Given the description of an element on the screen output the (x, y) to click on. 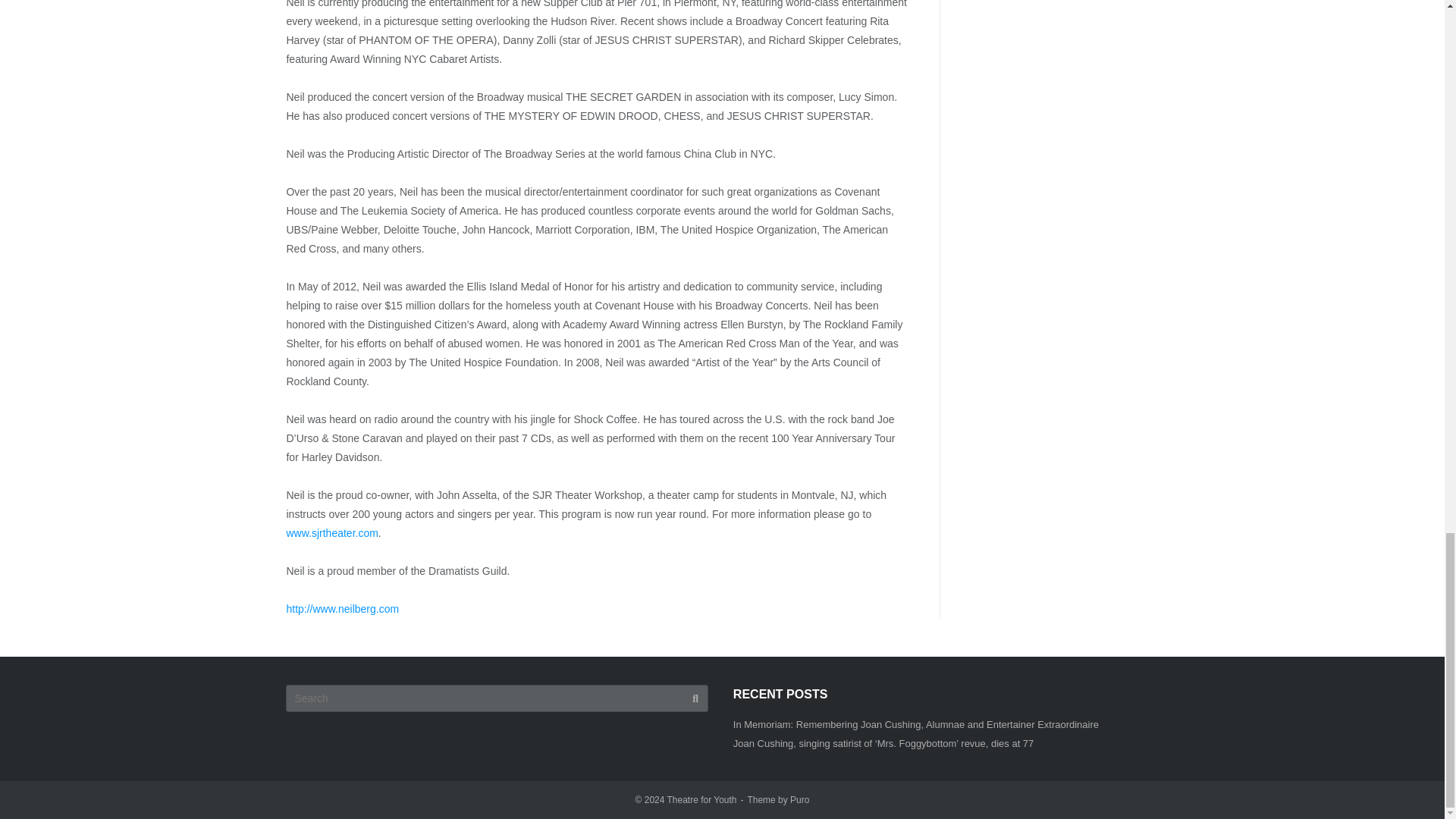
Theatre for Youth (701, 799)
www.sjrtheater.com (331, 532)
Puro (799, 799)
